Given the description of an element on the screen output the (x, y) to click on. 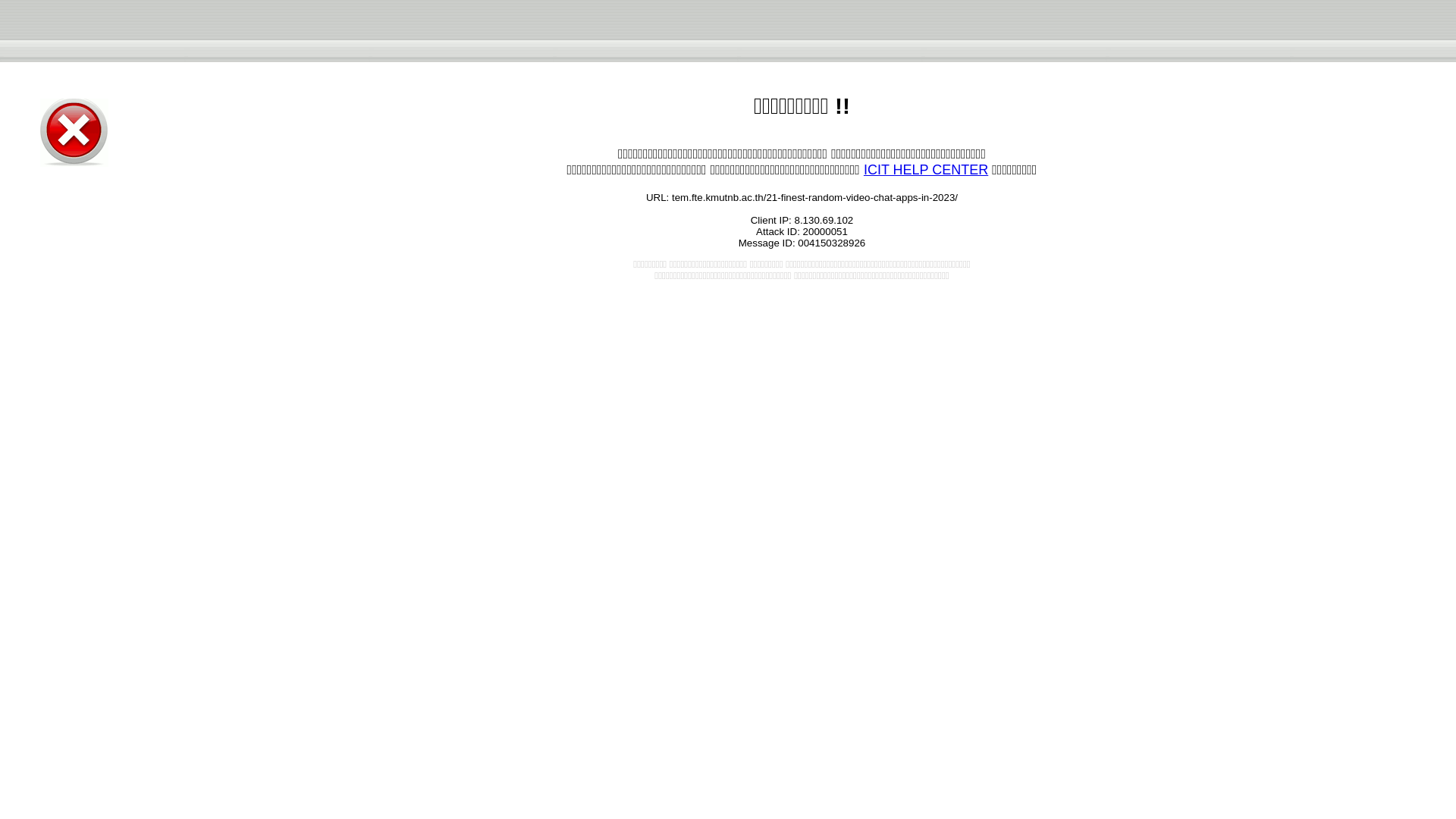
ICIT HELP CENTER (925, 169)
